Given the description of an element on the screen output the (x, y) to click on. 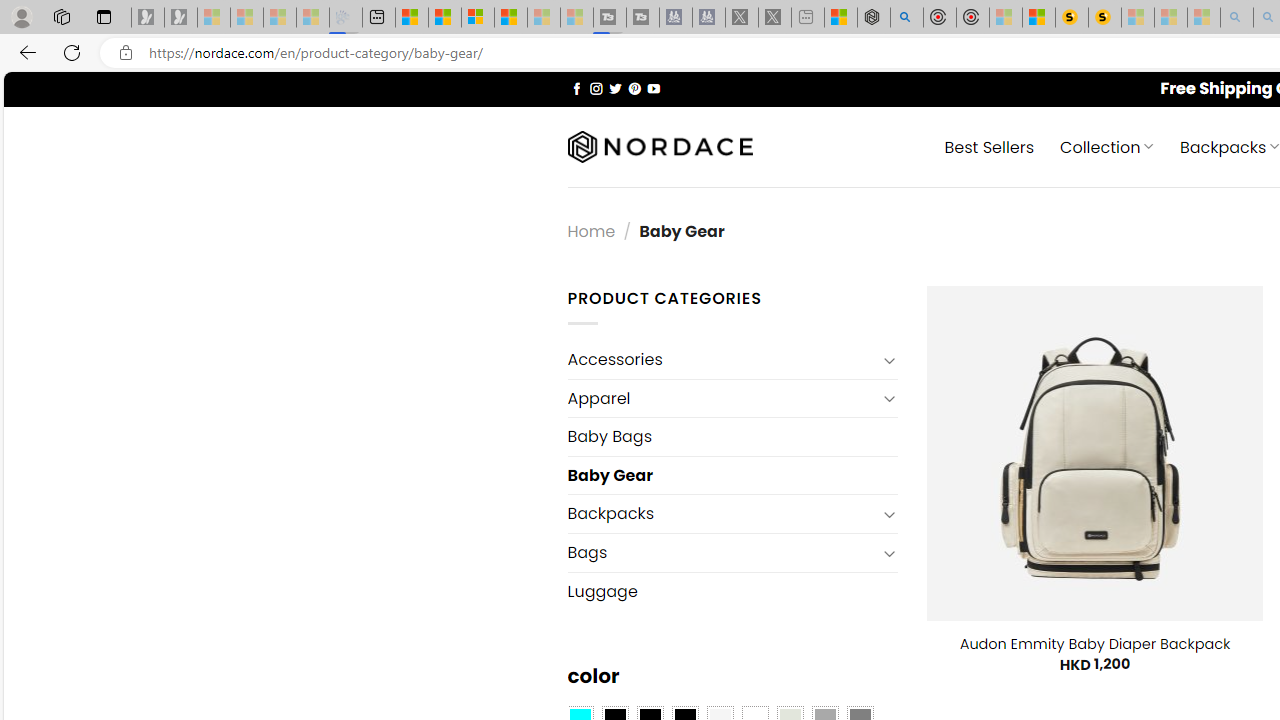
Luggage (732, 590)
Accessories (721, 359)
  Best Sellers (989, 146)
Baby Bags (732, 436)
Apparel (721, 398)
